Given the description of an element on the screen output the (x, y) to click on. 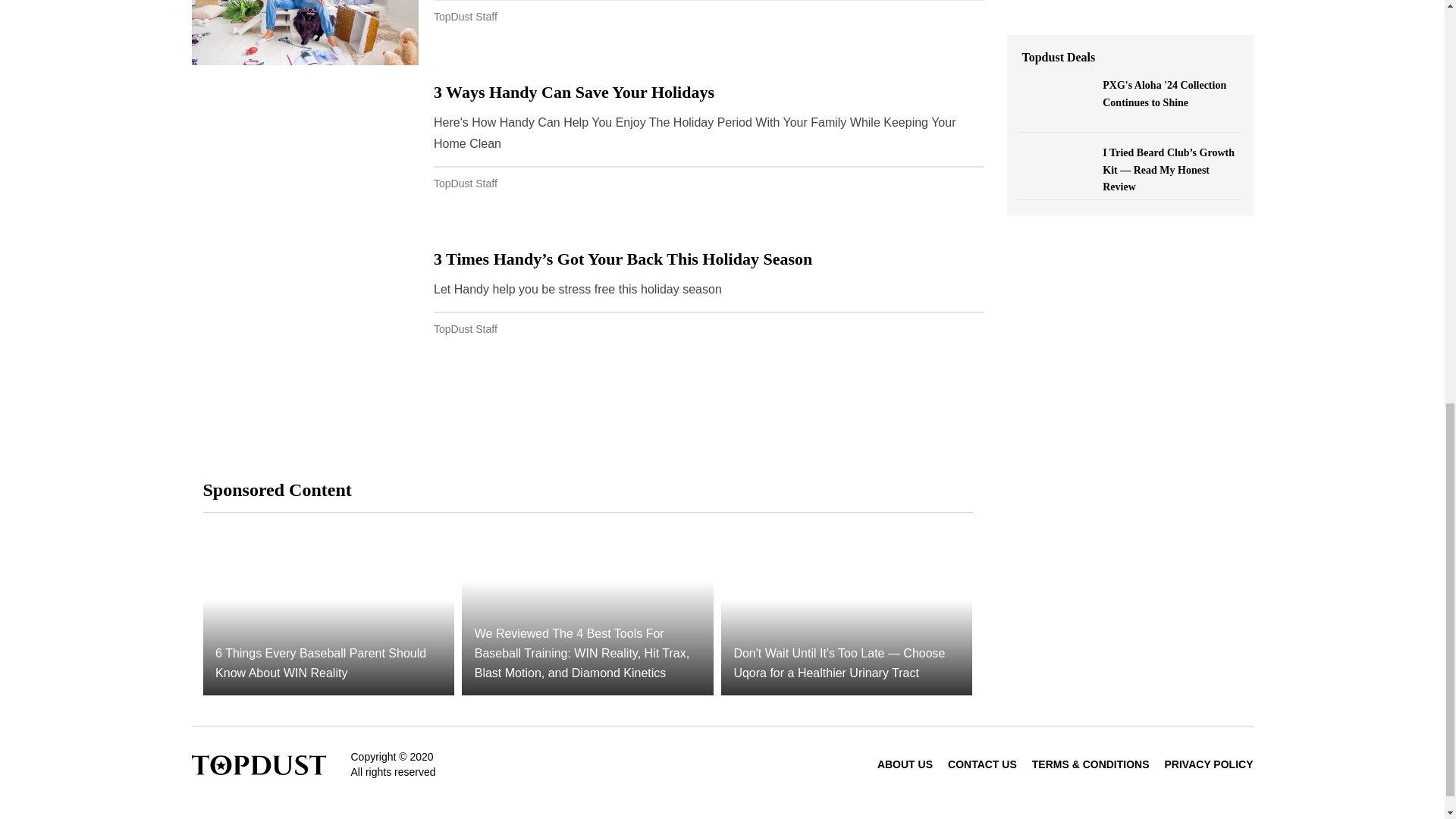
Logo (258, 763)
